Given the description of an element on the screen output the (x, y) to click on. 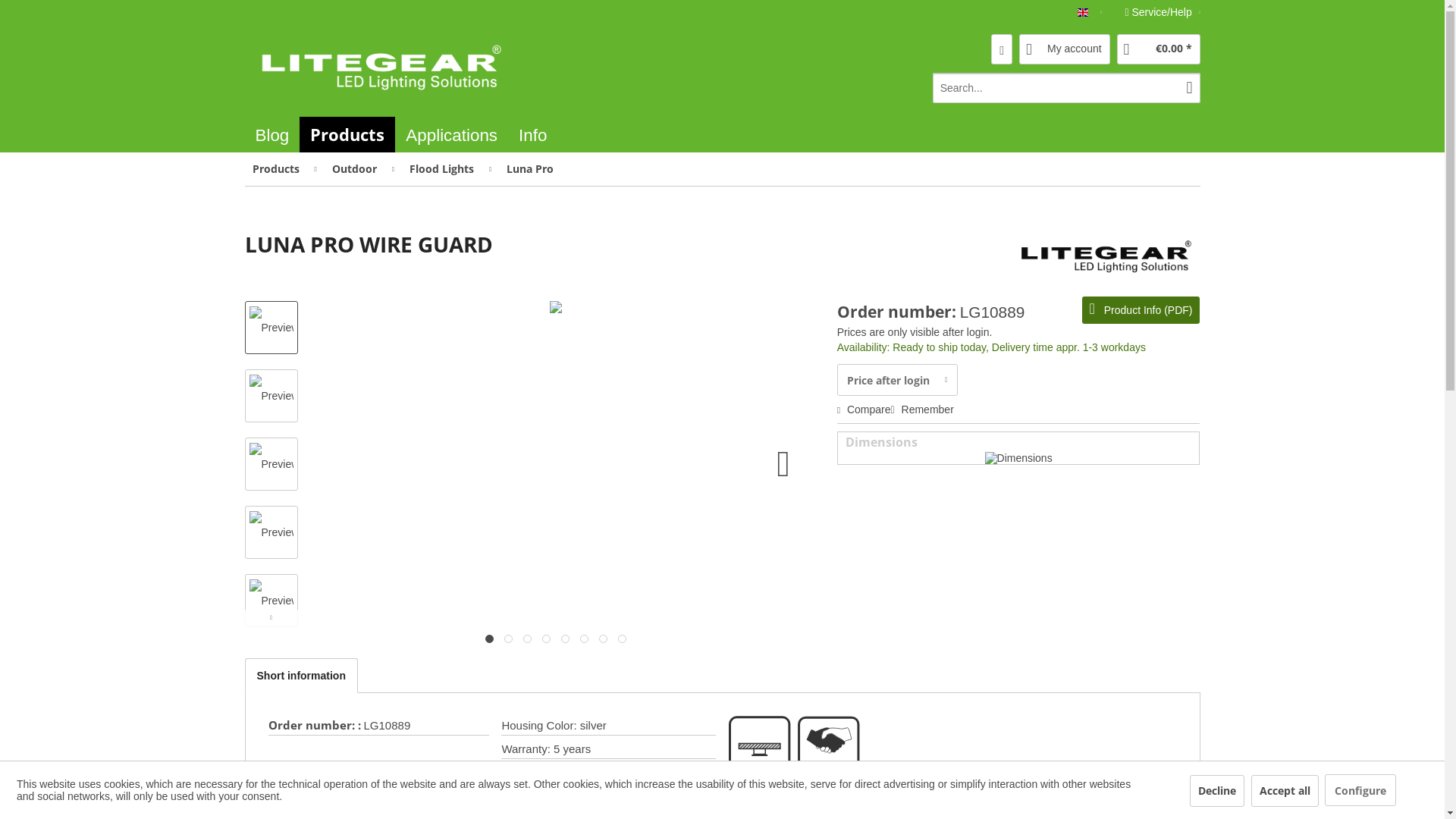
My account (1064, 49)
My account (1064, 49)
Blog (271, 135)
Applications (721, 130)
Applications (451, 135)
Info (451, 135)
Litegear - Switch to homepage (532, 135)
Products (378, 67)
Info (346, 134)
